Given the description of an element on the screen output the (x, y) to click on. 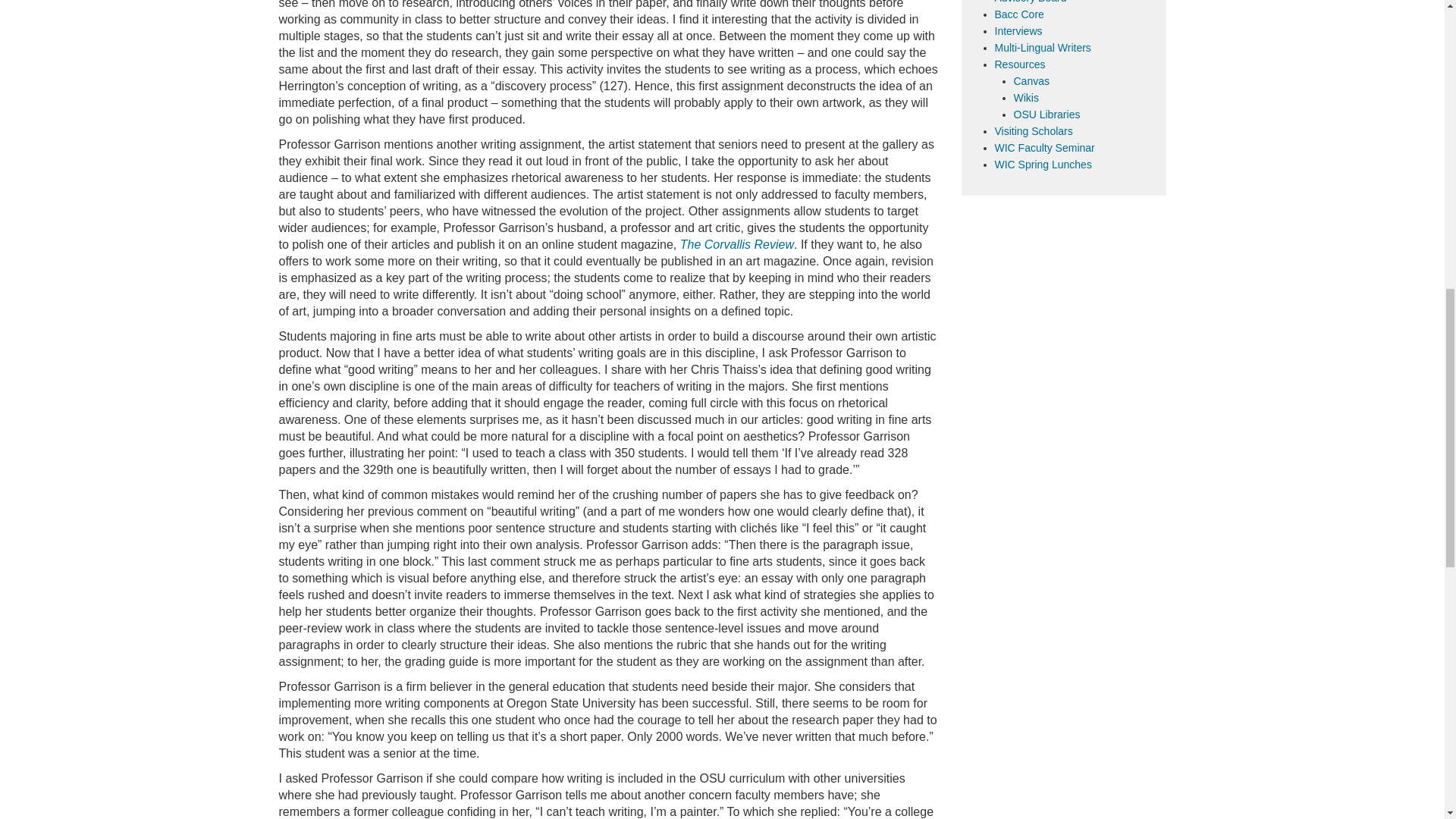
The Corvallis Review (736, 244)
